Given the description of an element on the screen output the (x, y) to click on. 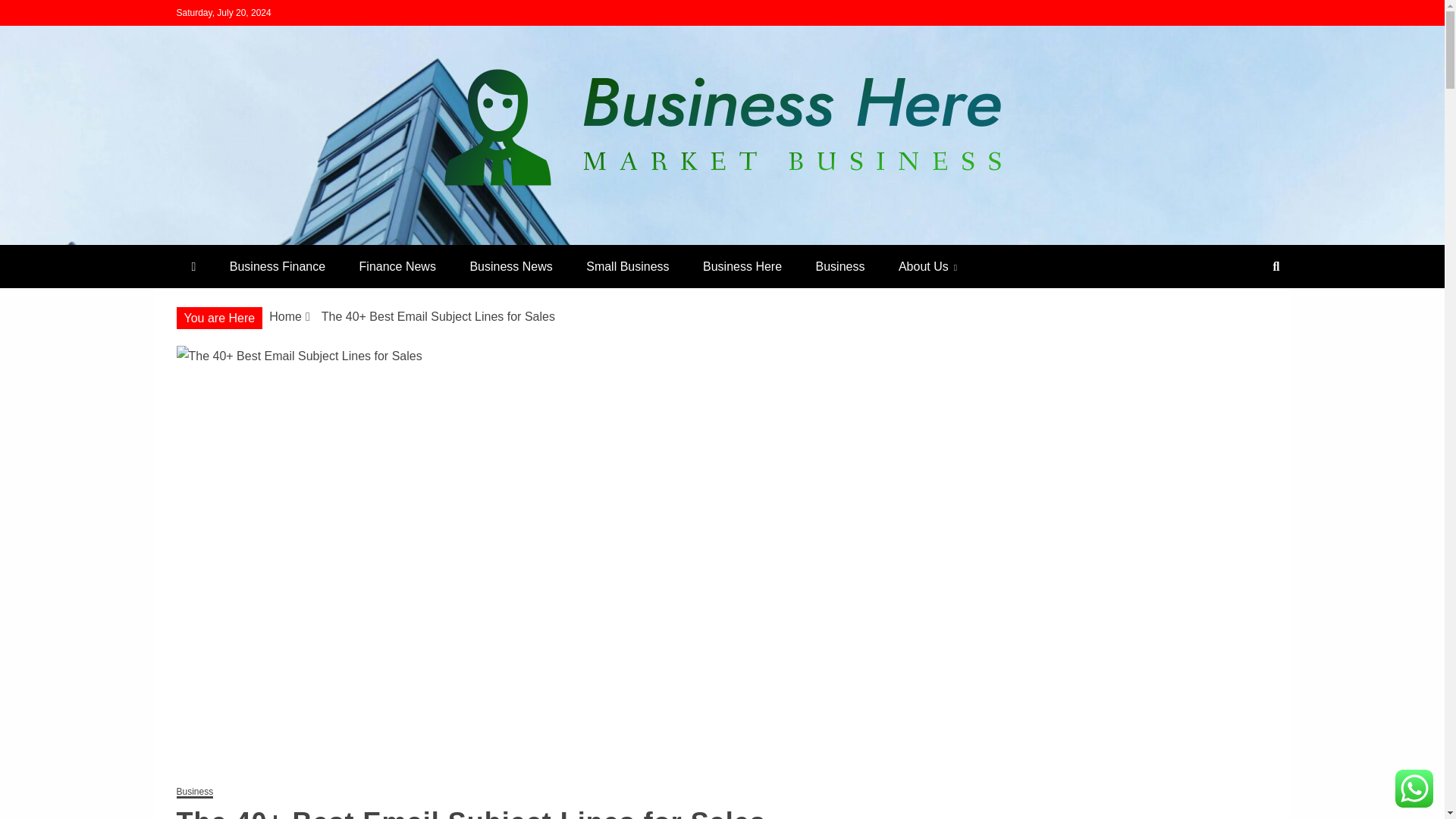
Home (285, 316)
Business Here (741, 266)
Business (194, 792)
Small Business (627, 266)
About Us (927, 266)
Business News (510, 266)
Finance News (397, 266)
Business (840, 266)
Search (31, 13)
Business Finance (277, 266)
Business Here (275, 237)
